Given the description of an element on the screen output the (x, y) to click on. 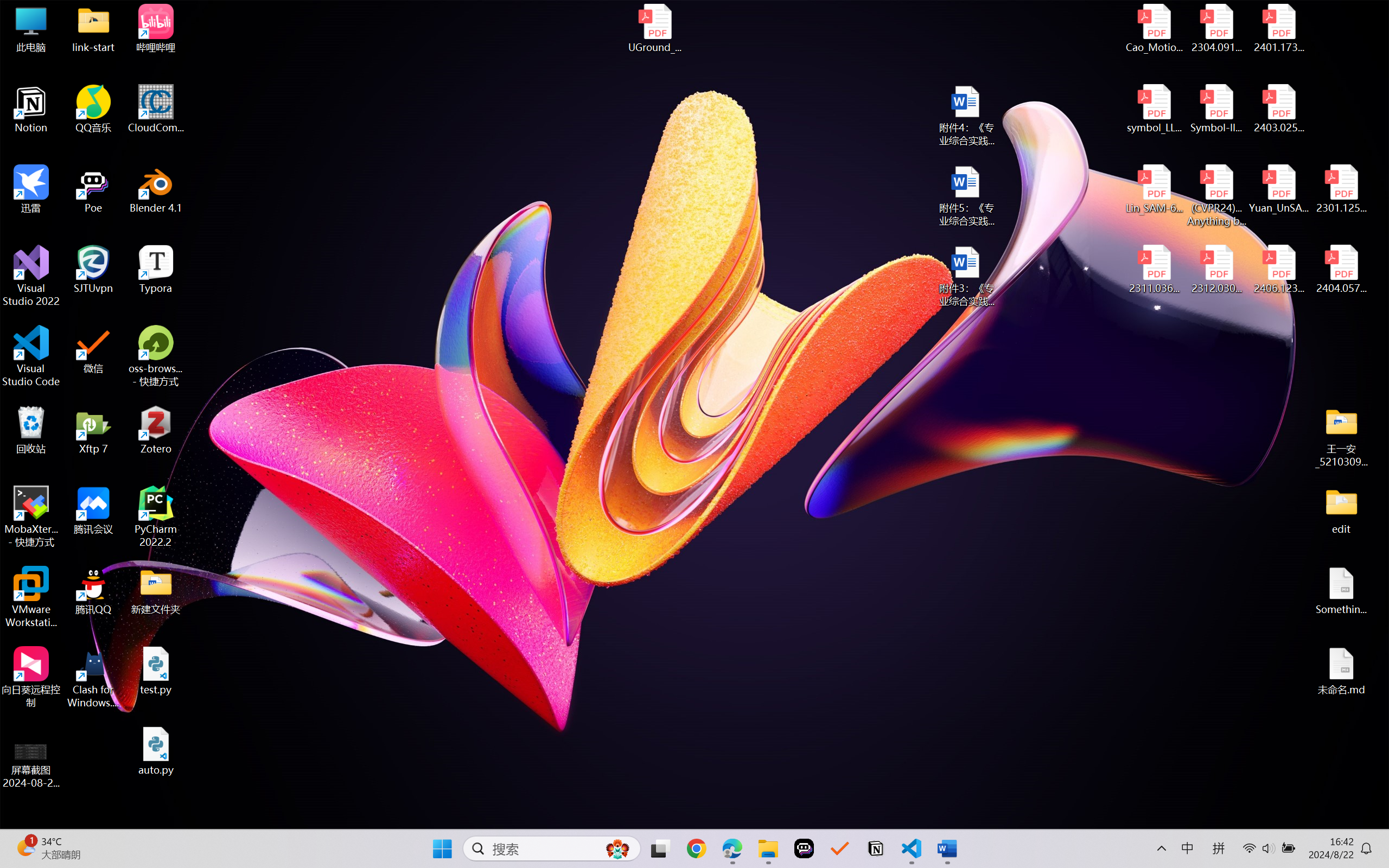
Google Chrome (696, 848)
2403.02502v1.pdf (1278, 109)
symbol_LLM.pdf (1154, 109)
Visual Studio Code (31, 355)
test.py (156, 670)
